Given the description of an element on the screen output the (x, y) to click on. 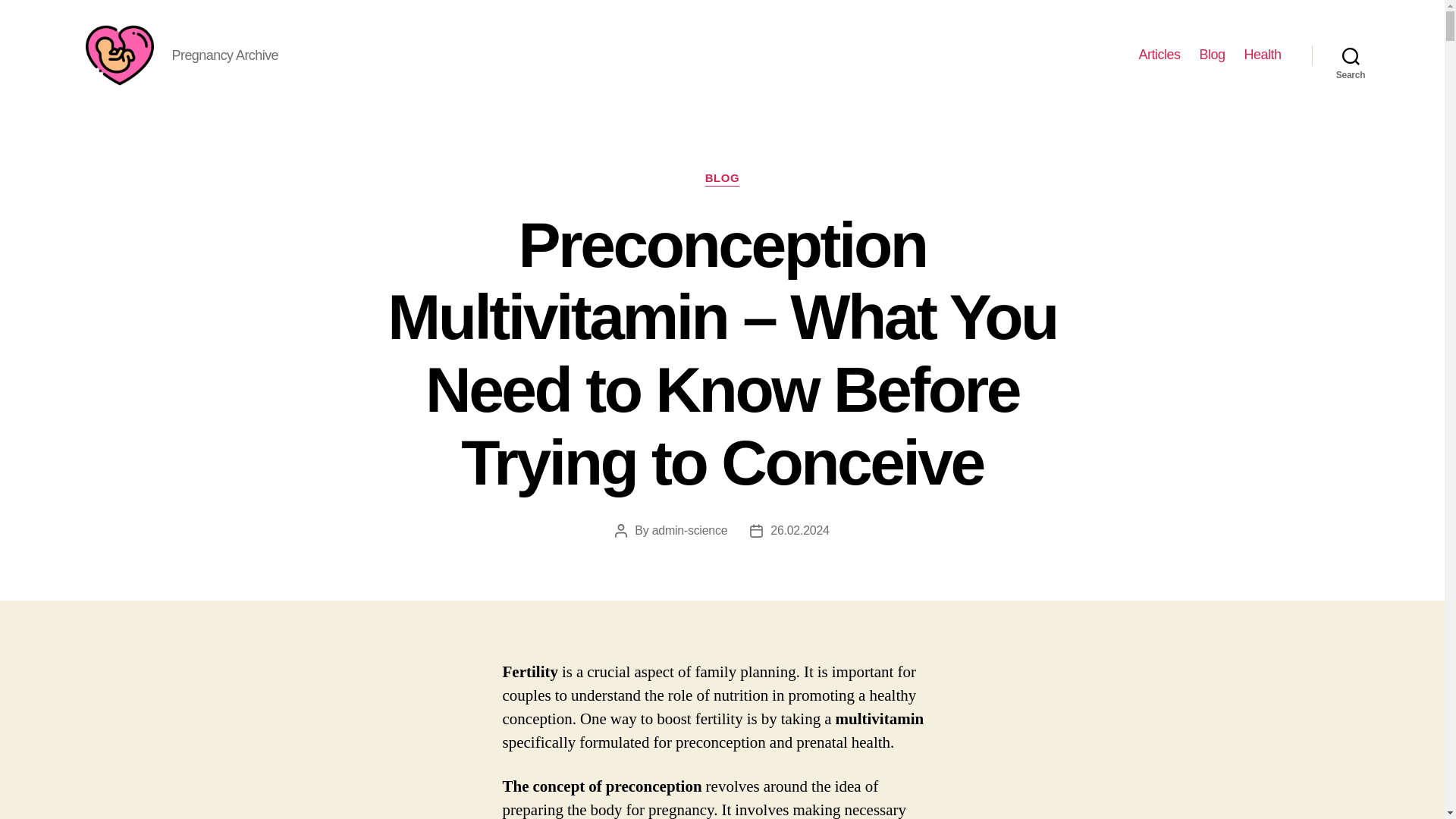
Articles (1158, 54)
BLOG (721, 178)
26.02.2024 (799, 530)
Search (1350, 55)
Health (1262, 54)
admin-science (690, 530)
Blog (1211, 54)
